Given the description of an element on the screen output the (x, y) to click on. 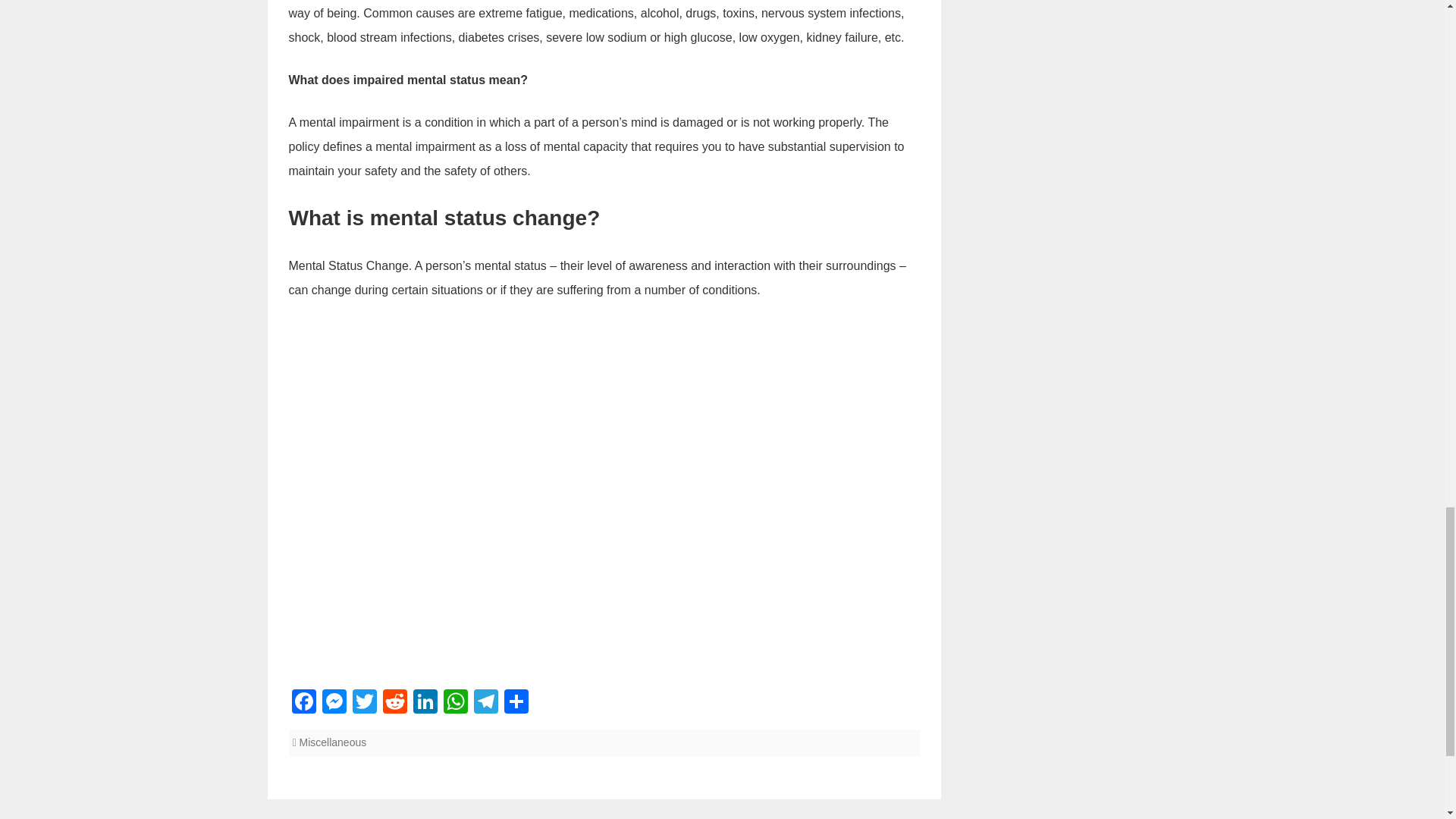
WhatsApp (454, 703)
Miscellaneous (332, 742)
Reddit (393, 703)
Telegram (485, 703)
Reddit (393, 703)
Facebook (303, 703)
Facebook (303, 703)
Messenger (333, 703)
Twitter (363, 703)
Telegram (485, 703)
Twitter (363, 703)
LinkedIn (424, 703)
WhatsApp (454, 703)
LinkedIn (424, 703)
Messenger (333, 703)
